Given the description of an element on the screen output the (x, y) to click on. 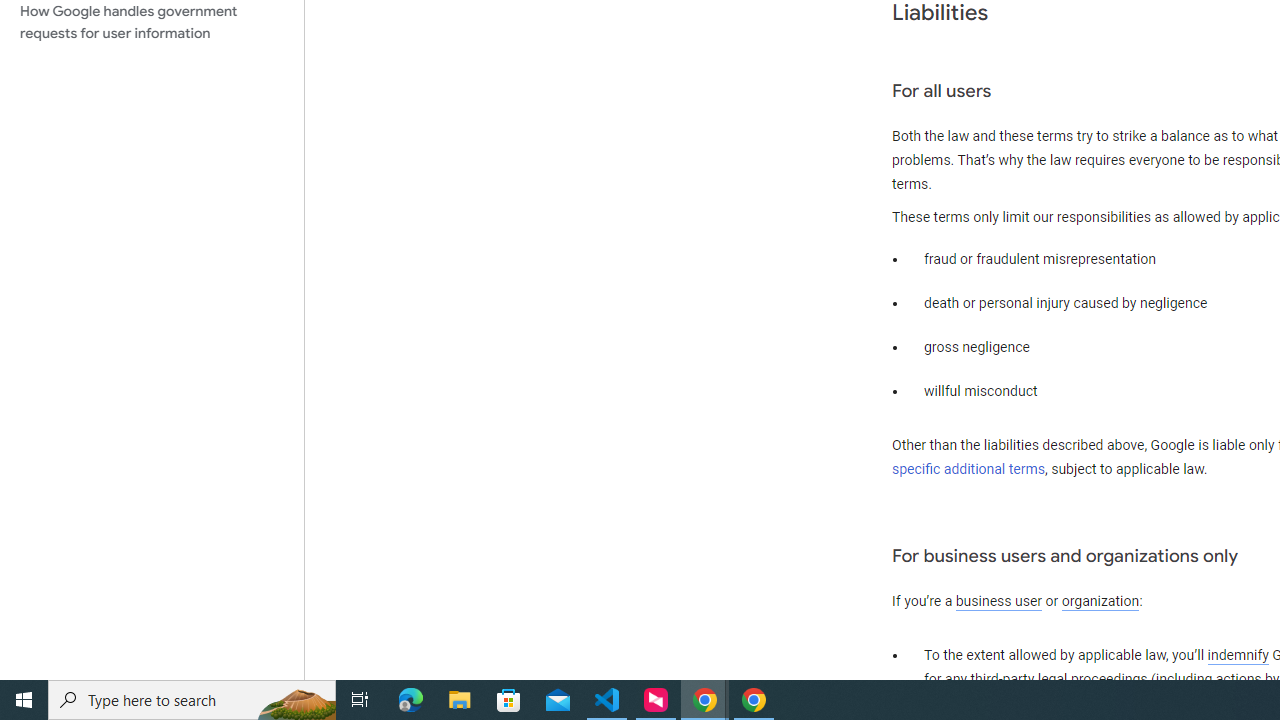
organization (1100, 602)
business user (998, 602)
indemnify (1237, 656)
